Given the description of an element on the screen output the (x, y) to click on. 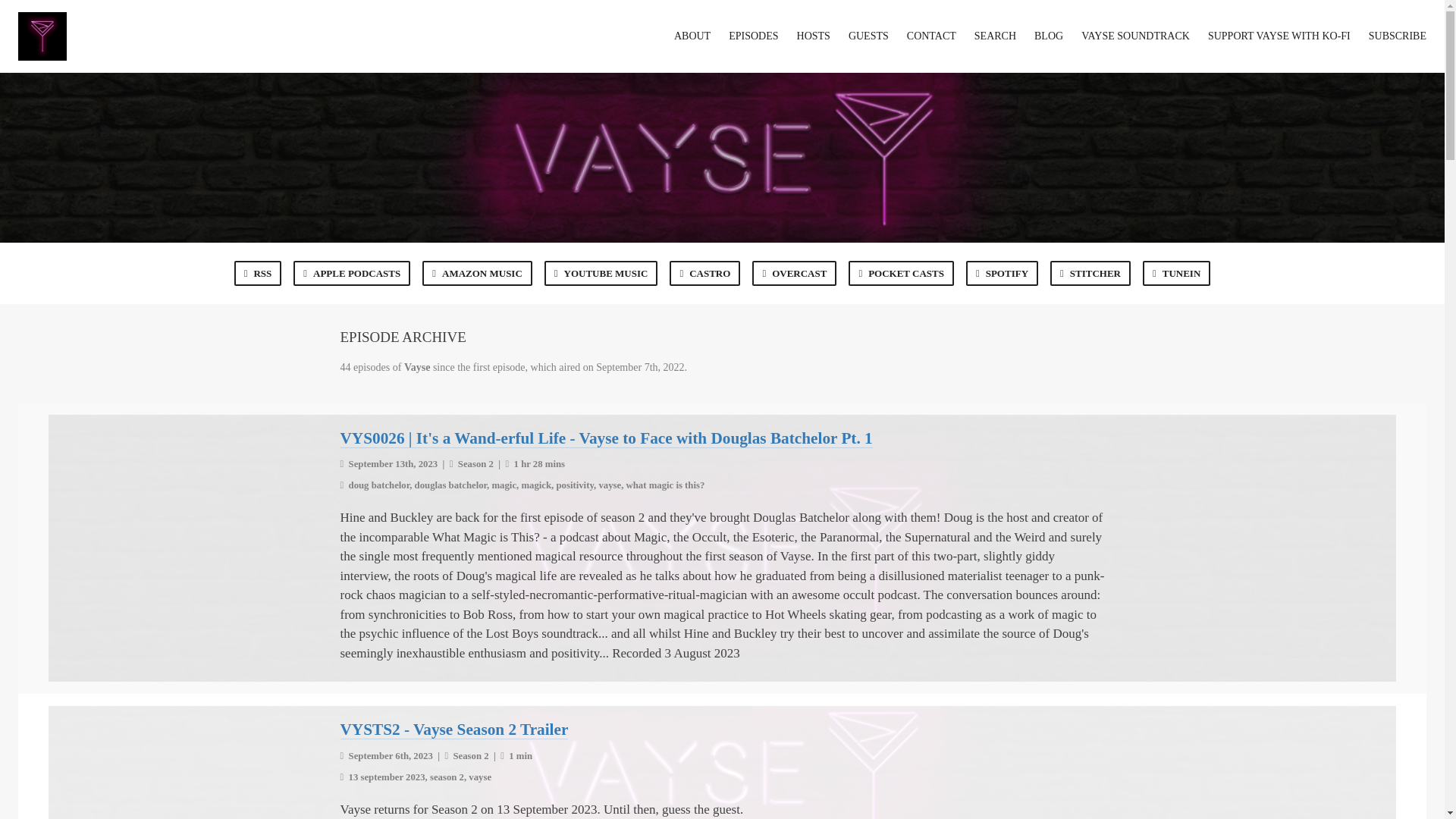
POCKET CASTS (900, 273)
SPOTIFY (1002, 273)
HOSTS (812, 35)
CONTACT (931, 35)
YOUTUBE MUSIC (601, 273)
VYSTS2 - Vayse Season 2 Trailer (453, 729)
SEARCH (995, 35)
SUPPORT VAYSE WITH KO-FI (1279, 35)
AMAZON MUSIC (477, 273)
EPISODES (753, 35)
